Given the description of an element on the screen output the (x, y) to click on. 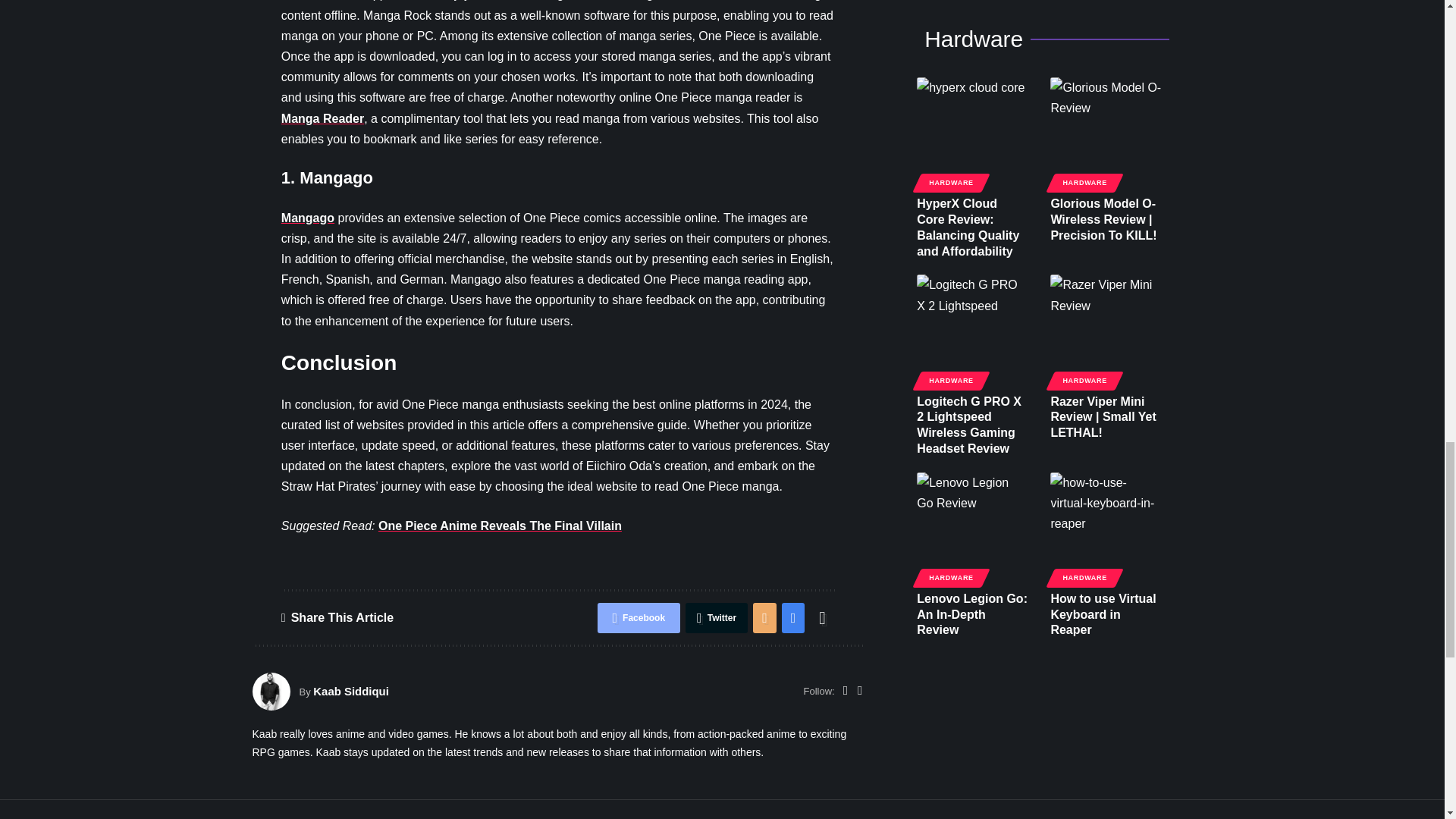
Manga Reader (322, 118)
Mangago (307, 217)
